Given the description of an element on the screen output the (x, y) to click on. 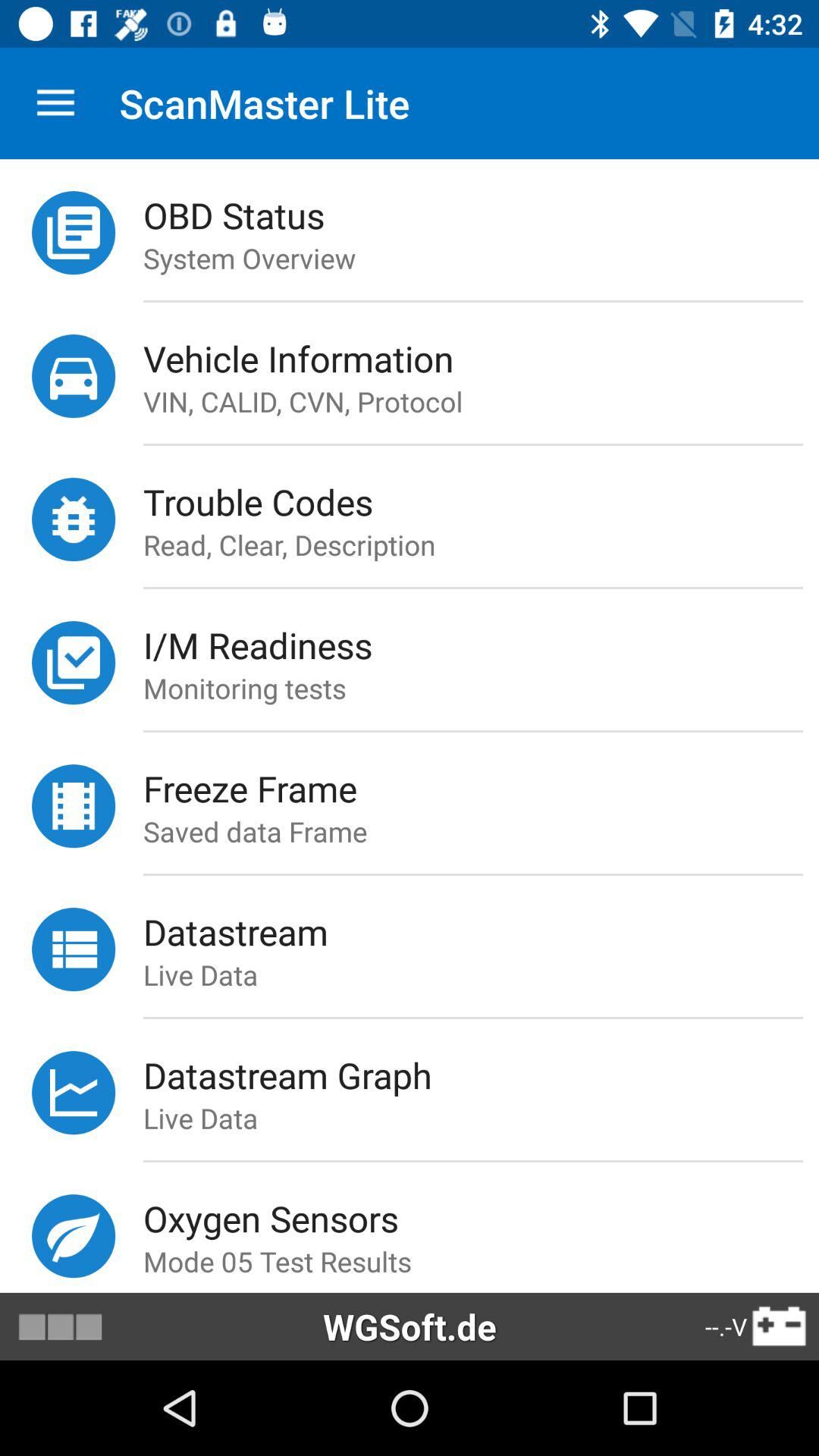
select the icon below live data (473, 1161)
